Given the description of an element on the screen output the (x, y) to click on. 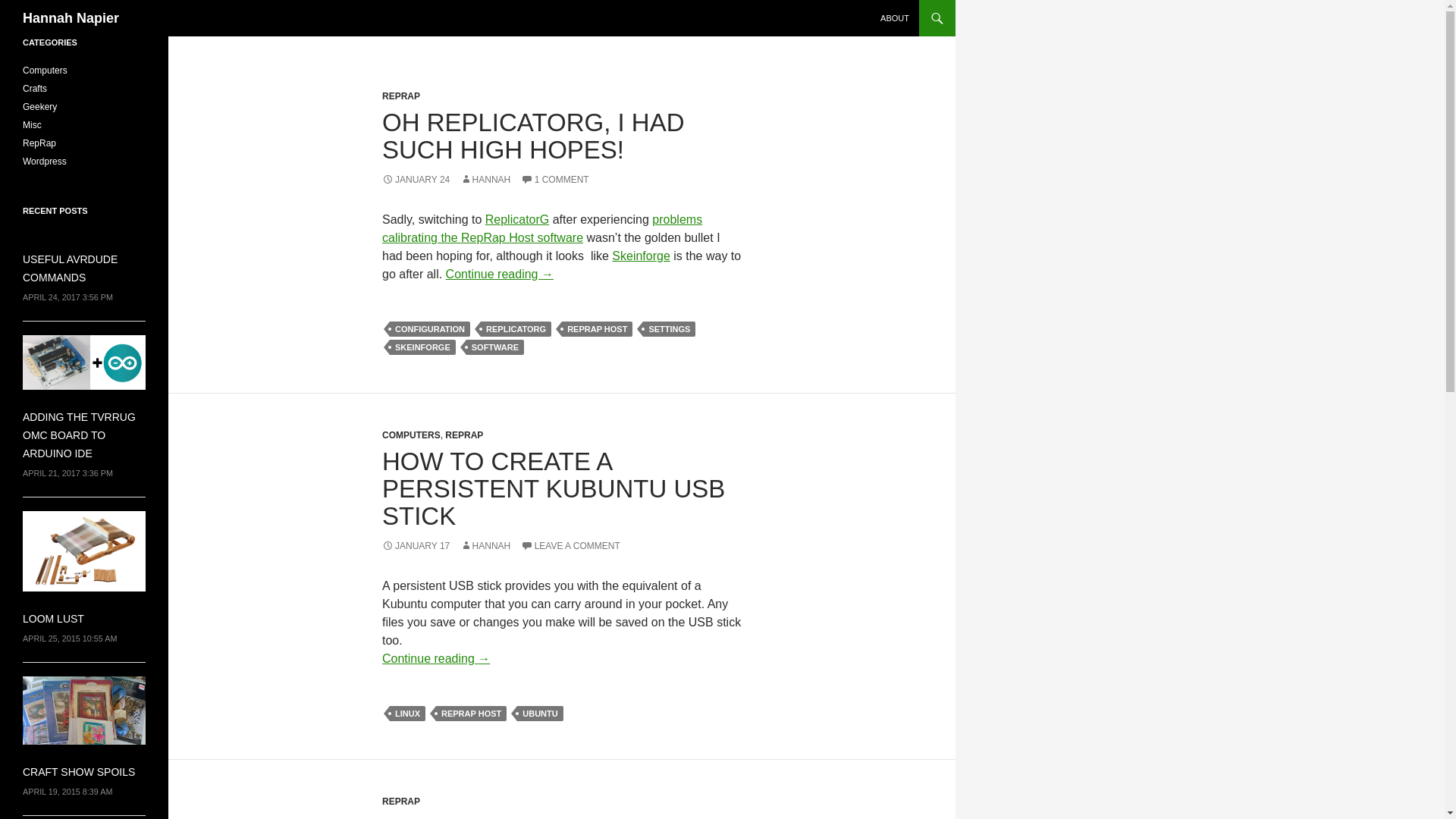
JANUARY 17 (415, 545)
LEAVE A COMMENT (570, 545)
1 COMMENT (555, 179)
ReplicatorG Home Page (516, 219)
Skeinforge Wiki Page (640, 255)
HANNAH (485, 179)
ABOUT (894, 18)
HANNAH (485, 545)
SETTINGS (669, 328)
REPRAP (400, 801)
SOFTWARE (494, 346)
REPRAP (464, 434)
REPLICATORG (515, 328)
